Given the description of an element on the screen output the (x, y) to click on. 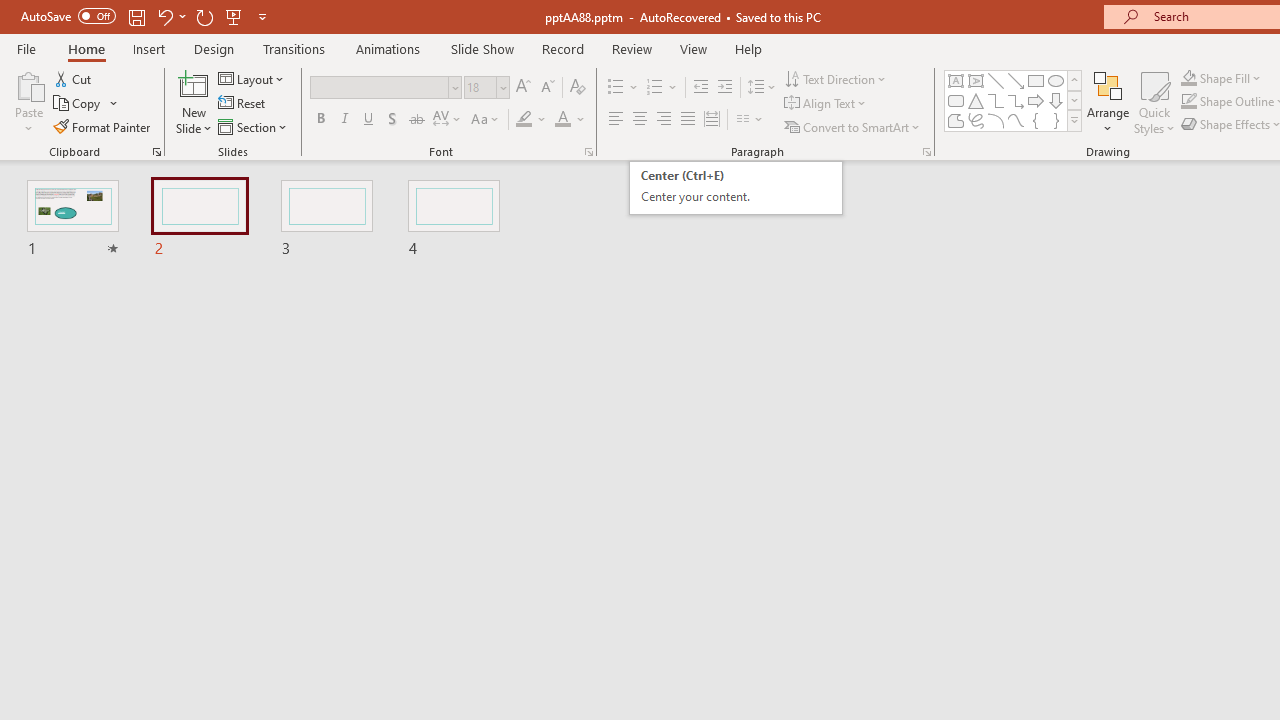
Justify (687, 119)
Decrease Indent (700, 87)
Font (385, 87)
Copy (78, 103)
Arrange (1108, 102)
Increase Font Size (522, 87)
Line Arrow (1016, 80)
